Given the description of an element on the screen output the (x, y) to click on. 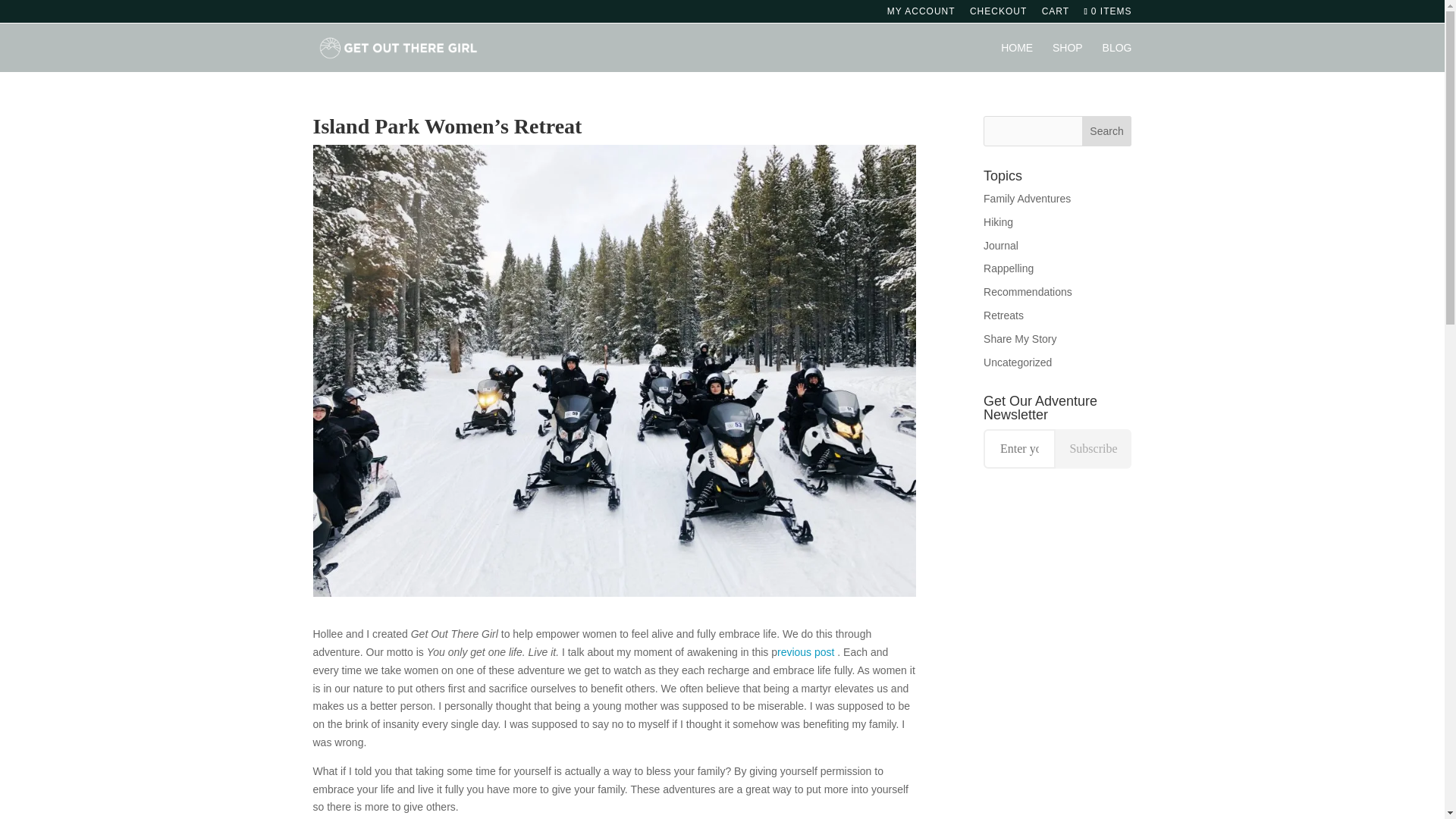
HOME (1016, 57)
CART (1055, 14)
MY ACCOUNT (920, 14)
SHOP (1067, 57)
Rappelling (1008, 268)
Journal (1000, 245)
Hiking (998, 222)
CHECKOUT (997, 14)
Share My Story (1020, 338)
revious post  (807, 652)
Family Adventures (1027, 198)
Retreats (1003, 315)
Search (1106, 131)
BLOG (1117, 57)
0 ITEMS (1105, 10)
